Given the description of an element on the screen output the (x, y) to click on. 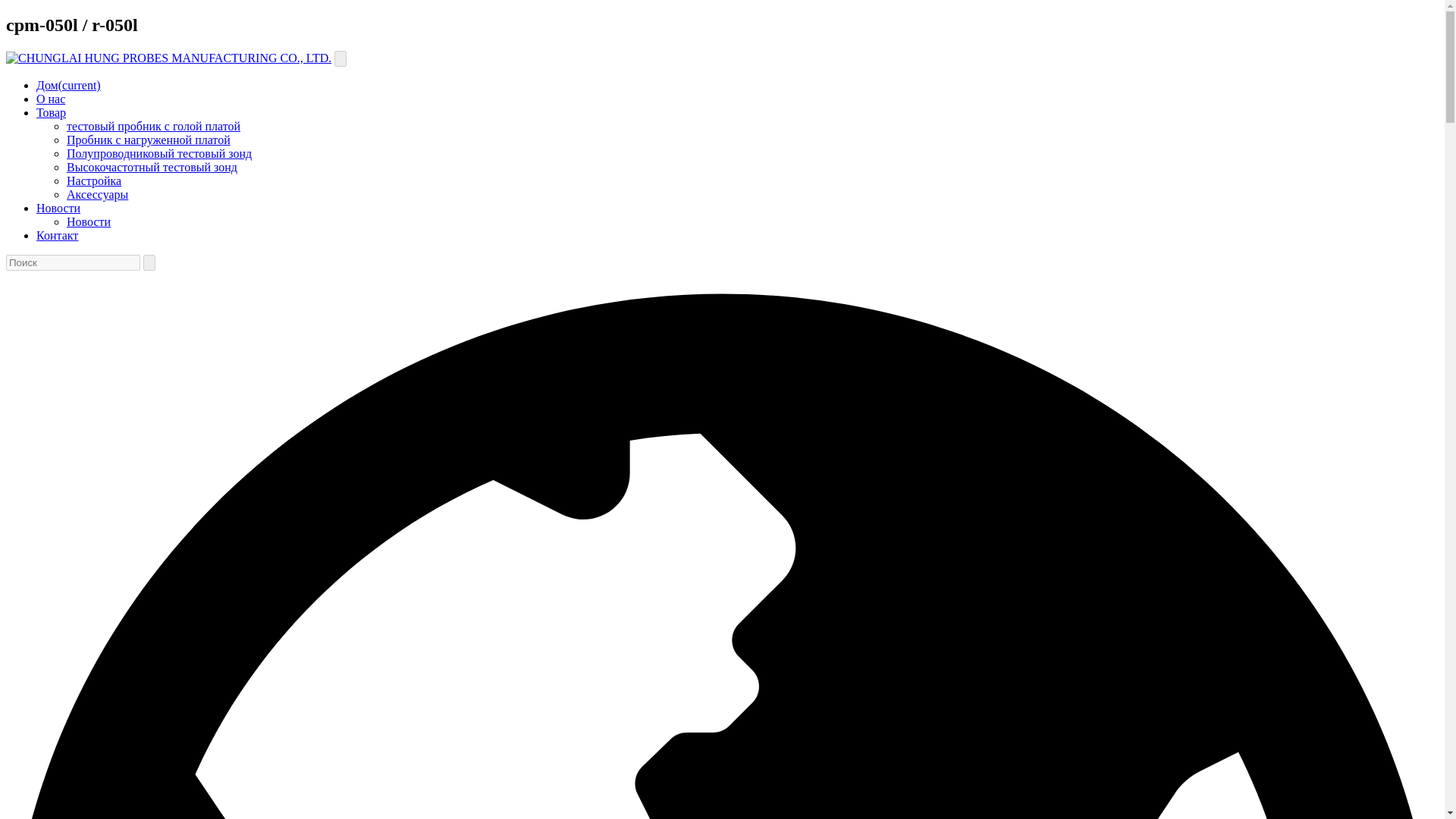
CHUNGLAI HUNG PROBES MANUFACTURING CO., LTD. (168, 57)
